Given the description of an element on the screen output the (x, y) to click on. 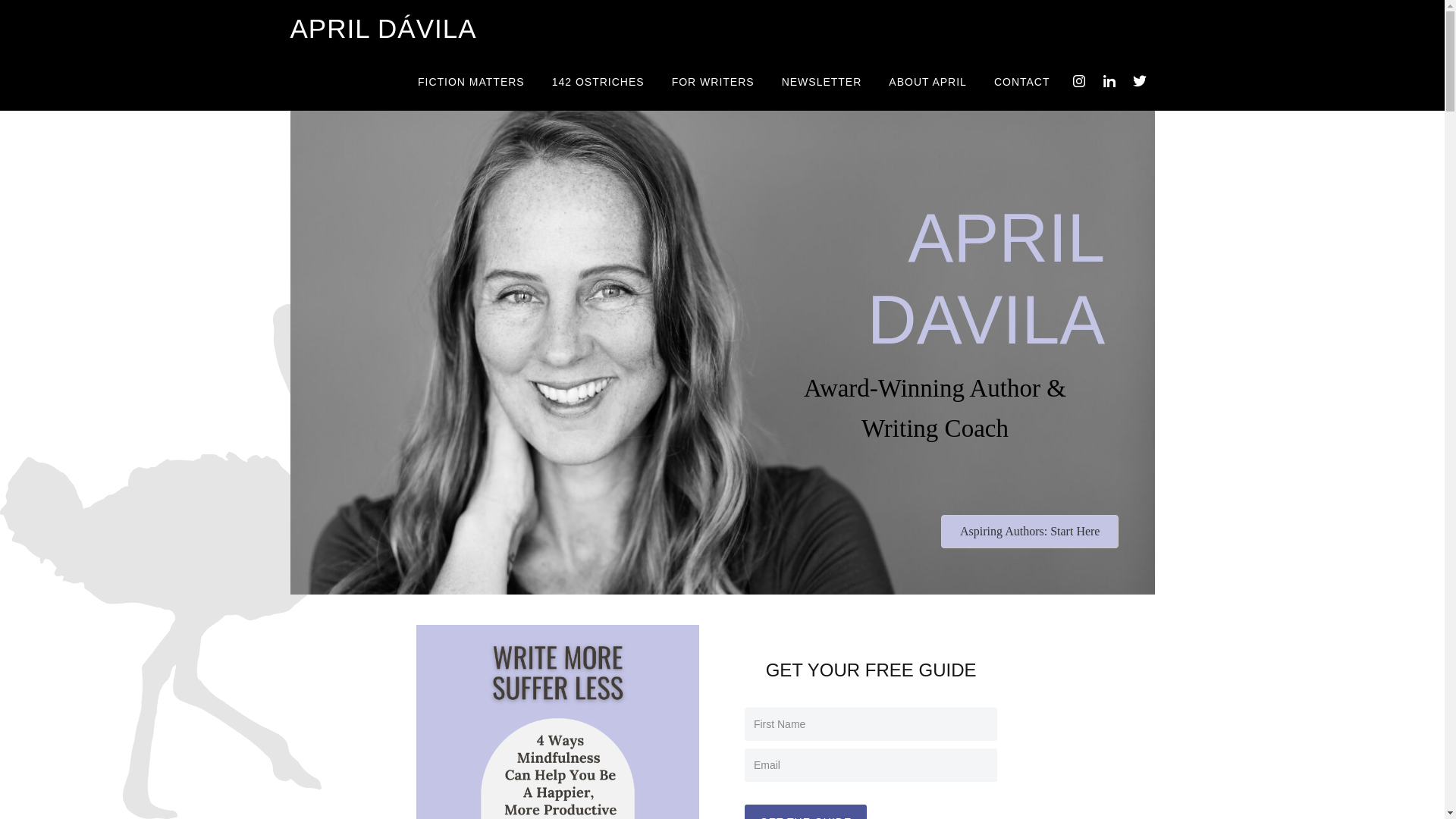
Aspiring Authors: Start Here (1029, 531)
FOR WRITERS (713, 81)
142 OSTRICHES (598, 81)
Pg 1 of PDF freebie - Write More Suffer Less (556, 721)
CONTACT (1021, 81)
ABOUT APRIL (927, 81)
FICTION MATTERS (471, 81)
GET THE GUIDE (805, 811)
NEWSLETTER (822, 81)
